Given the description of an element on the screen output the (x, y) to click on. 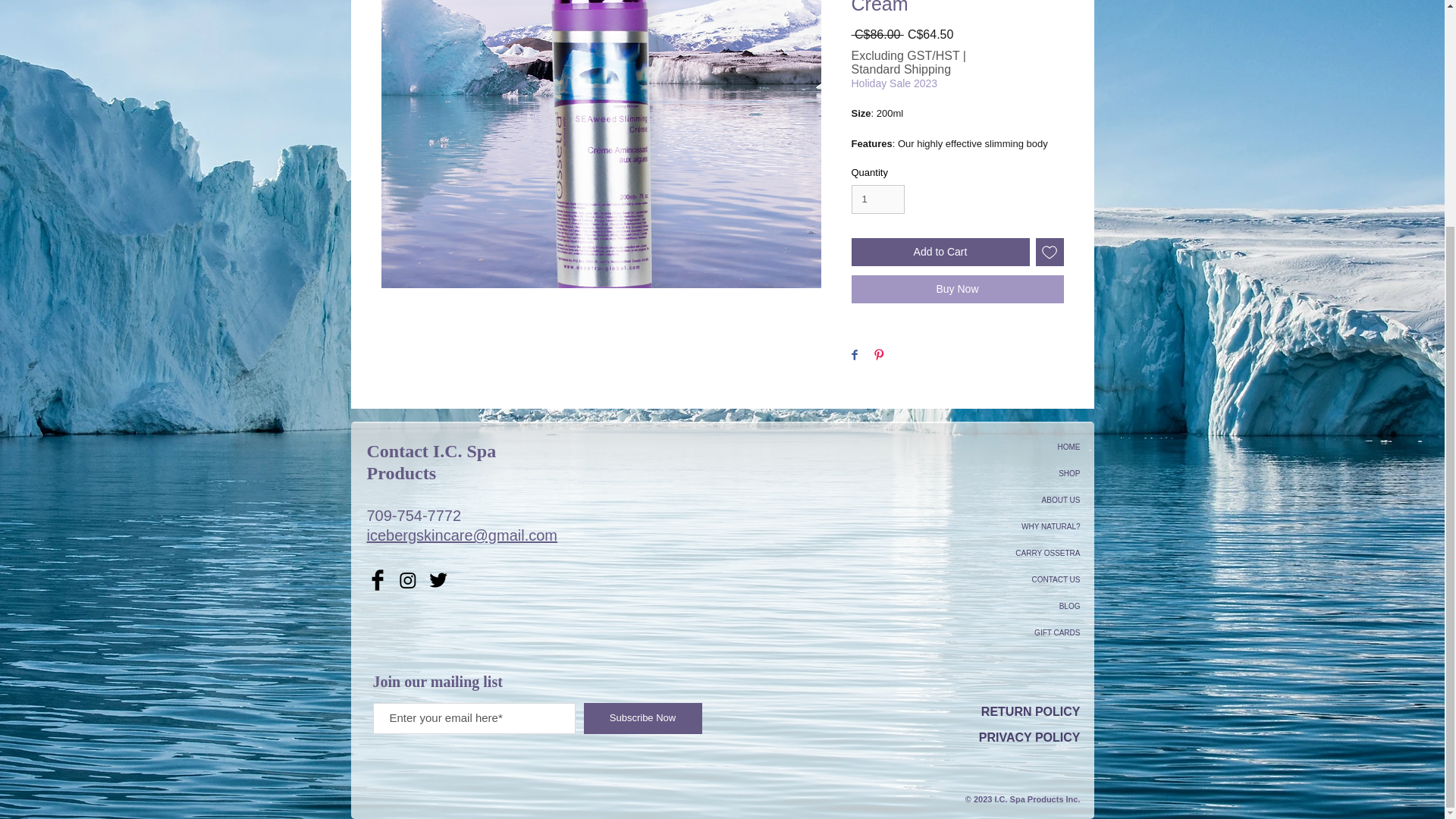
HOME (1027, 447)
Subscribe Now (642, 717)
Standard Shipping (900, 69)
Add to Cart (939, 252)
SHOP (1027, 473)
1 (877, 199)
Buy Now (956, 289)
